Given the description of an element on the screen output the (x, y) to click on. 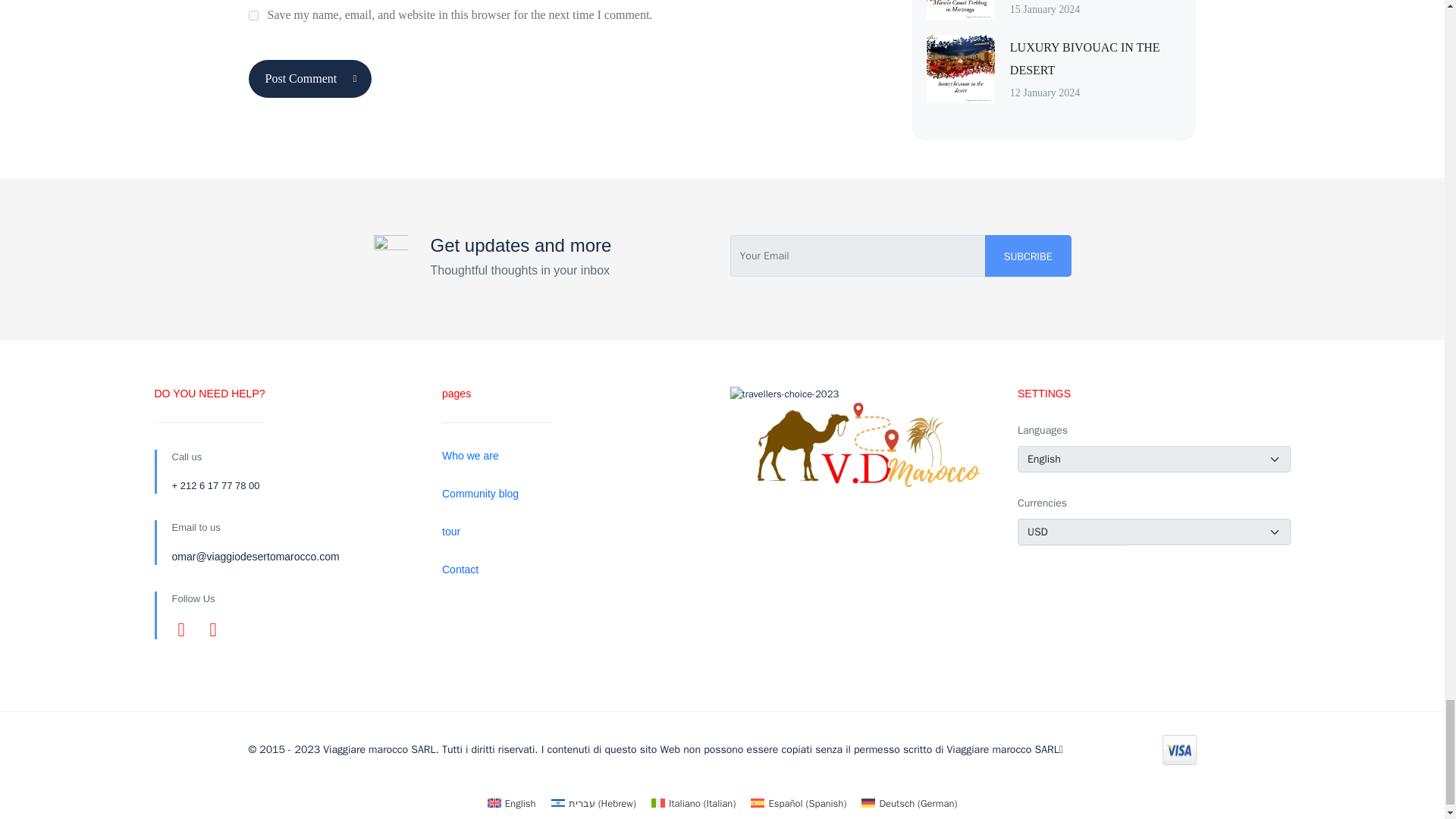
travellers-choice-2023 (783, 394)
Post Comment (310, 78)
Post Comment (310, 78)
Subcribe (1028, 255)
yes (253, 15)
